Given the description of an element on the screen output the (x, y) to click on. 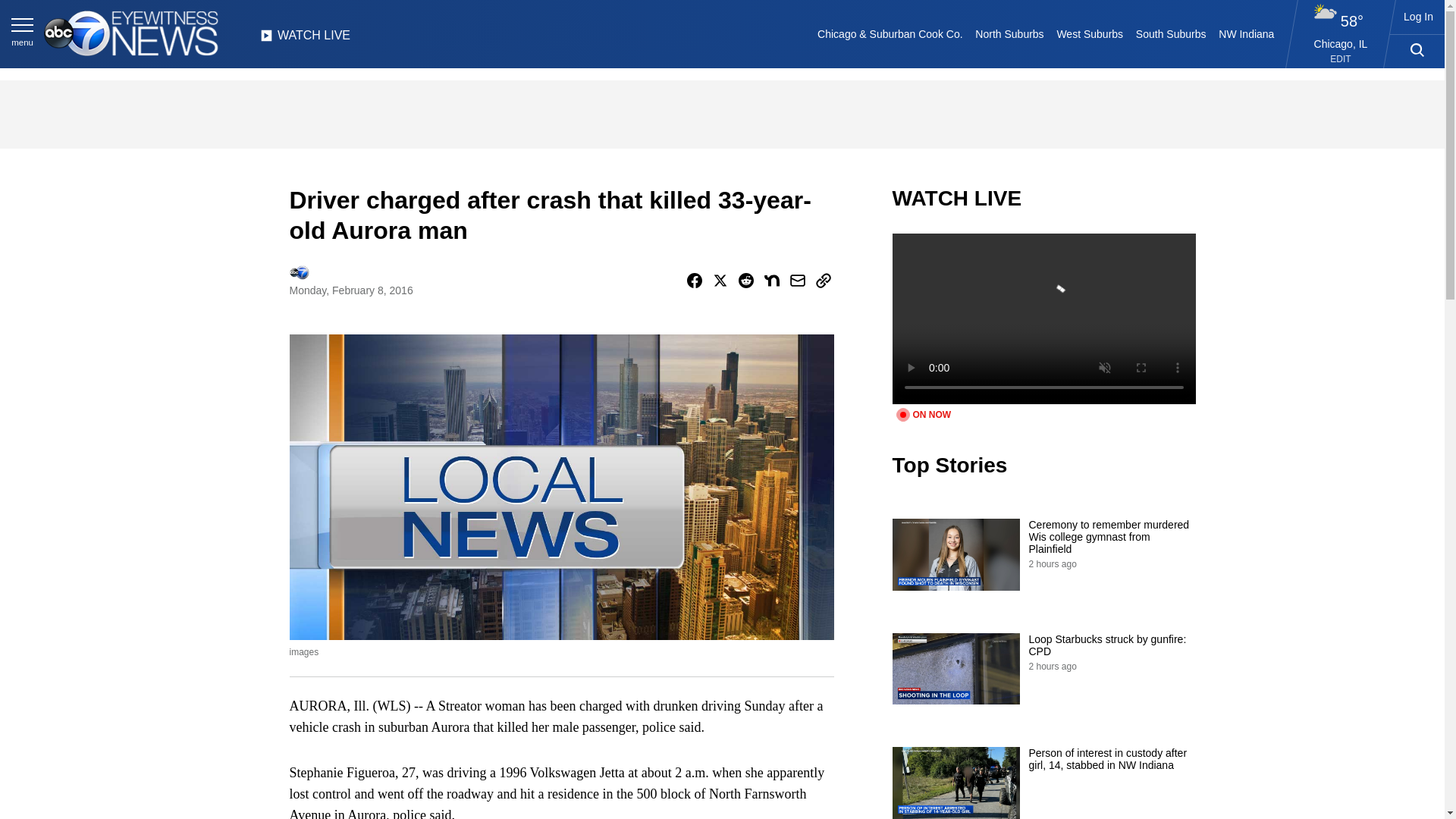
EDIT (1340, 59)
North Suburbs (1009, 33)
NW Indiana (1246, 33)
Chicago, IL (1340, 43)
WATCH LIVE (305, 39)
South Suburbs (1170, 33)
video.title (1043, 318)
West Suburbs (1089, 33)
